Given the description of an element on the screen output the (x, y) to click on. 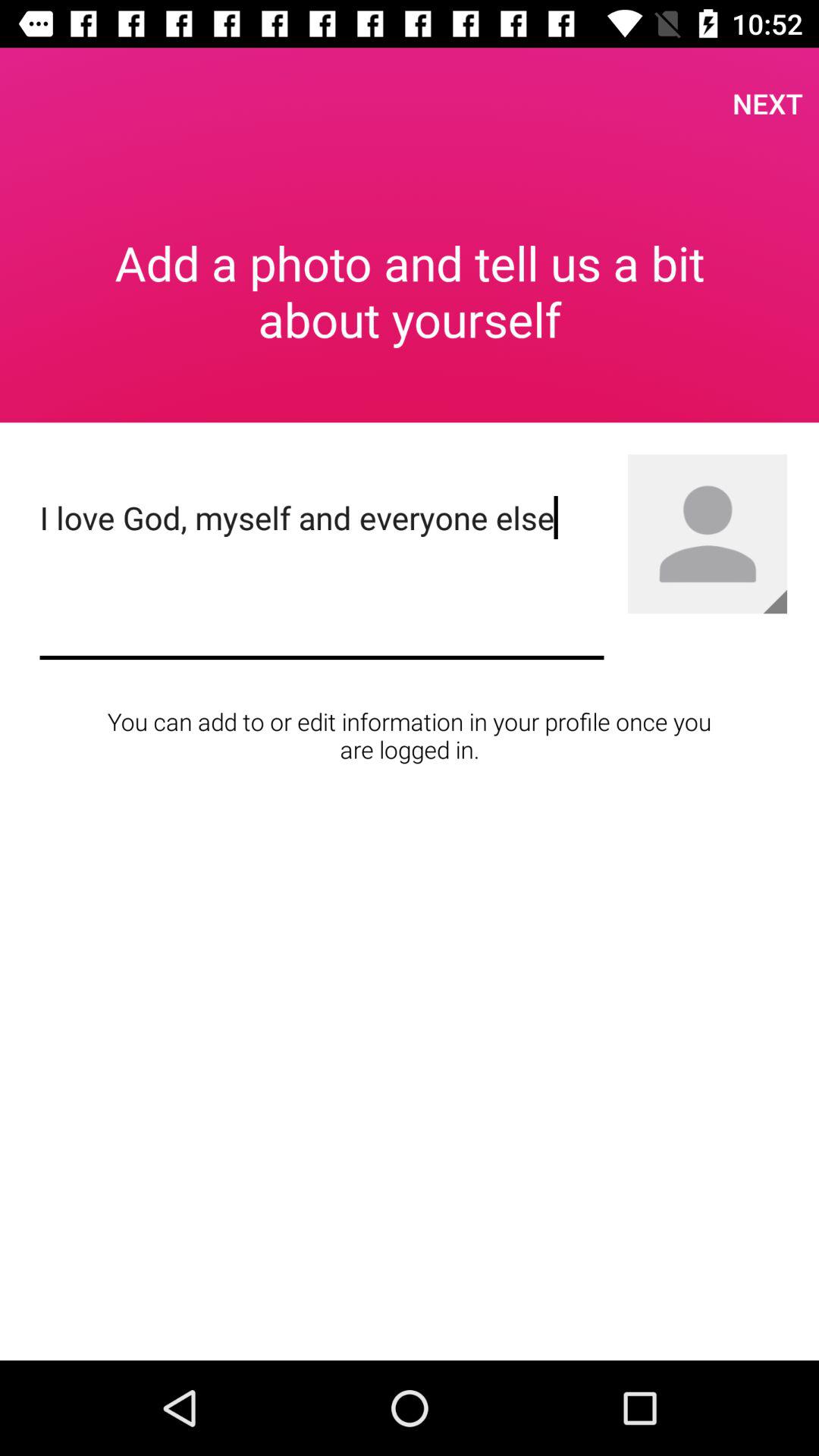
change profile pic (775, 601)
